Given the description of an element on the screen output the (x, y) to click on. 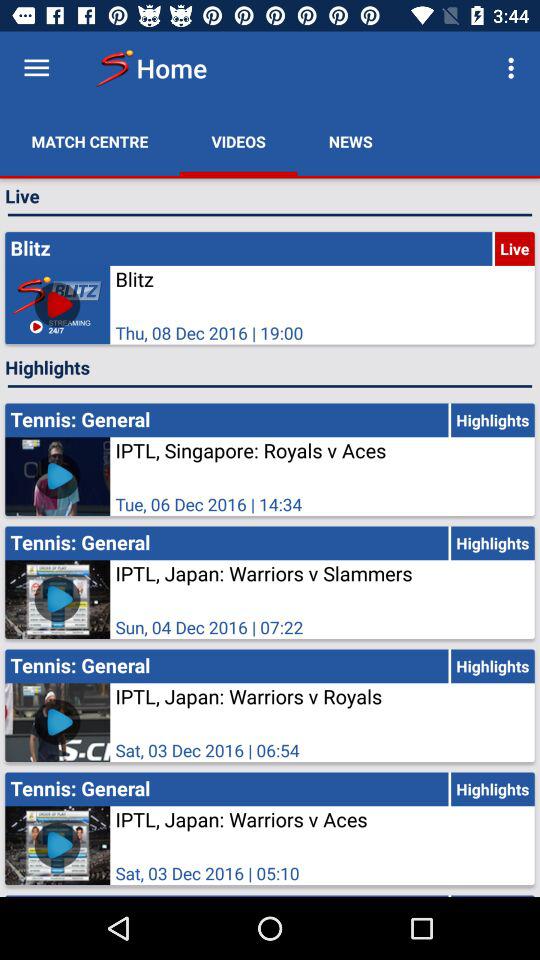
view menu (36, 68)
